Given the description of an element on the screen output the (x, y) to click on. 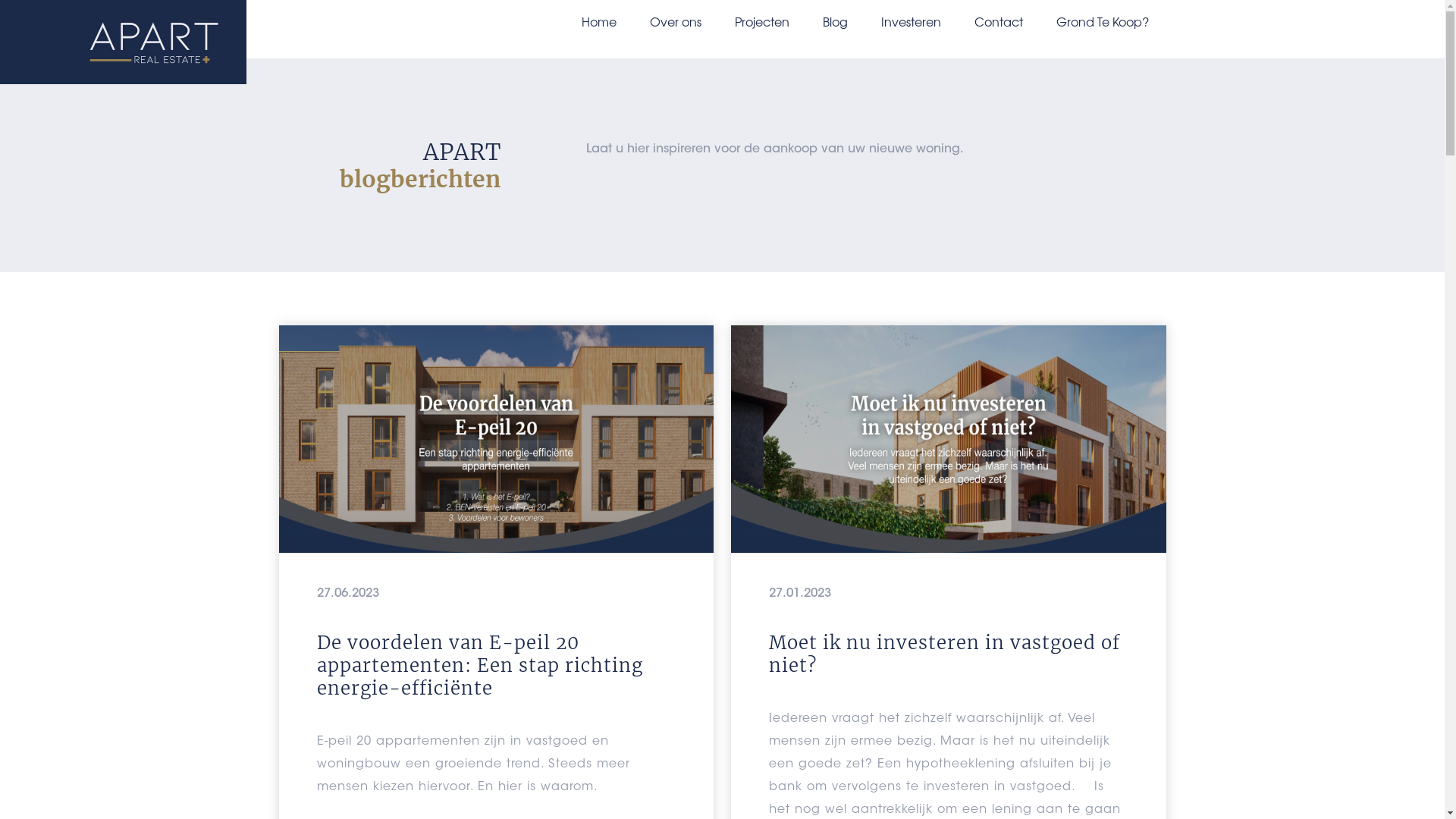
Apart Real Estate Plus Element type: hover (153, 42)
Blog Element type: text (834, 21)
Home Element type: text (598, 21)
Grond Te Koop? Element type: text (1101, 21)
Over ons Element type: text (674, 21)
Investeren Element type: text (910, 21)
Contact Element type: text (997, 21)
Moet ik nu investeren in vastgoed of niet? Element type: text (947, 654)
Projecten Element type: text (761, 21)
